Given the description of an element on the screen output the (x, y) to click on. 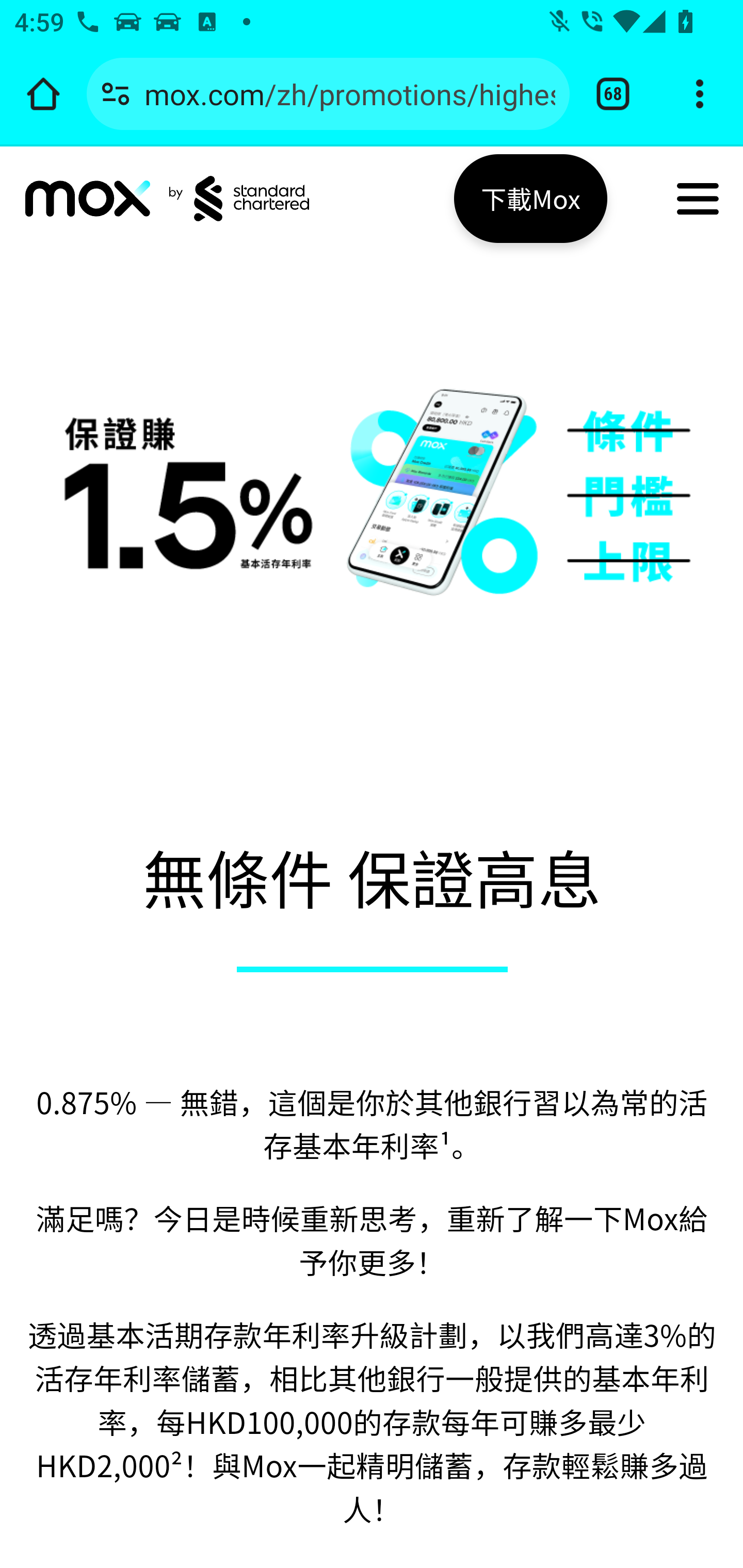
Open the home page (43, 93)
Connection is secure (115, 93)
Switch or close tabs (612, 93)
Customize and control Google Chrome (699, 93)
mox.com/zh/promotions/highest-savings-base-rate/ (349, 92)
下載Mox (530, 198)
Mox Logo (88, 198)
